Given the description of an element on the screen output the (x, y) to click on. 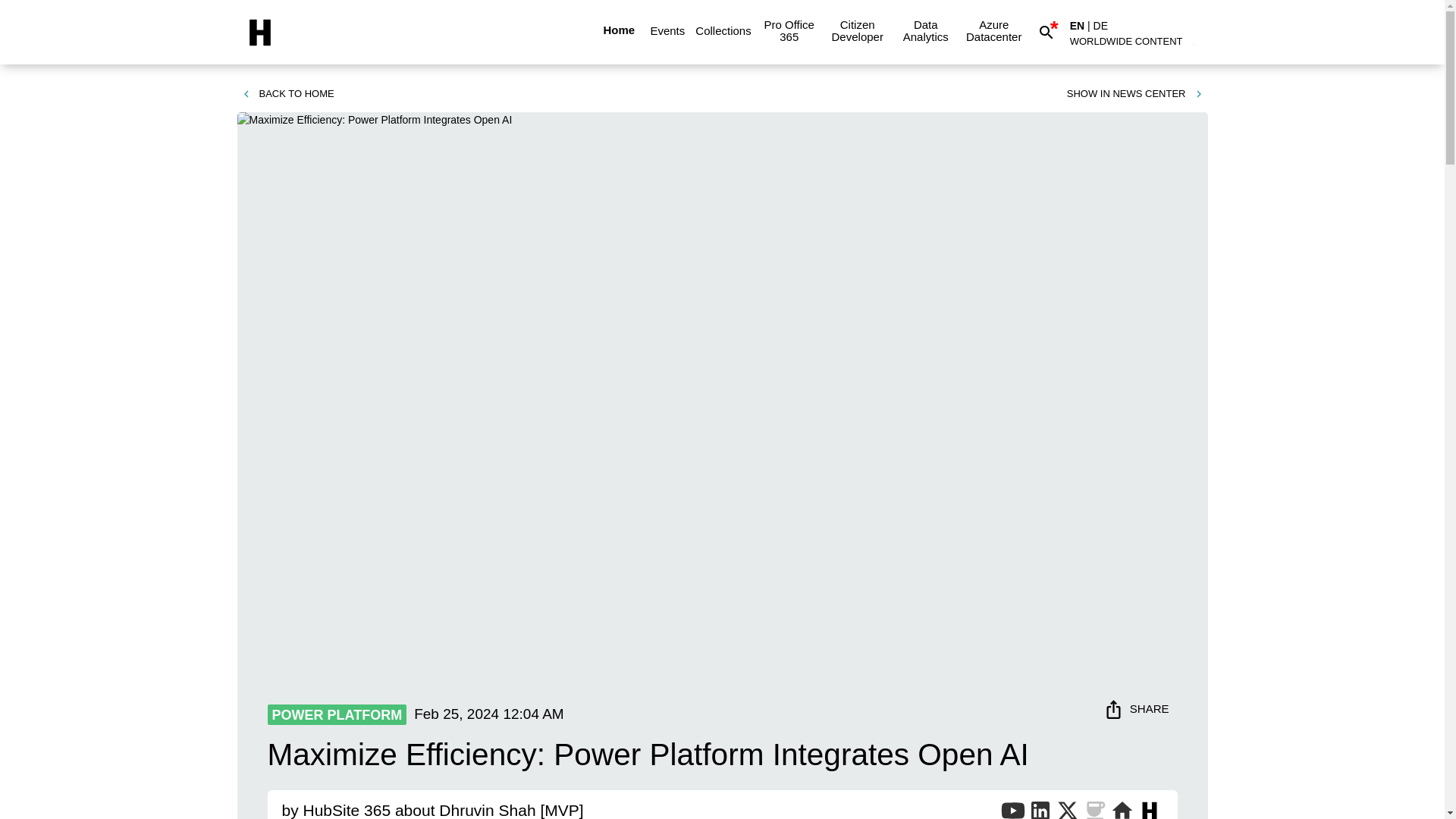
Citizen Developer (857, 31)
Collections (722, 31)
BACK TO HOME (286, 94)
SHOW IN NEWS CENTER (1135, 94)
Home (618, 30)
Pro Office 365 (789, 31)
Events (667, 31)
Azure Datacenter (993, 31)
SHARE (1137, 708)
